Given the description of an element on the screen output the (x, y) to click on. 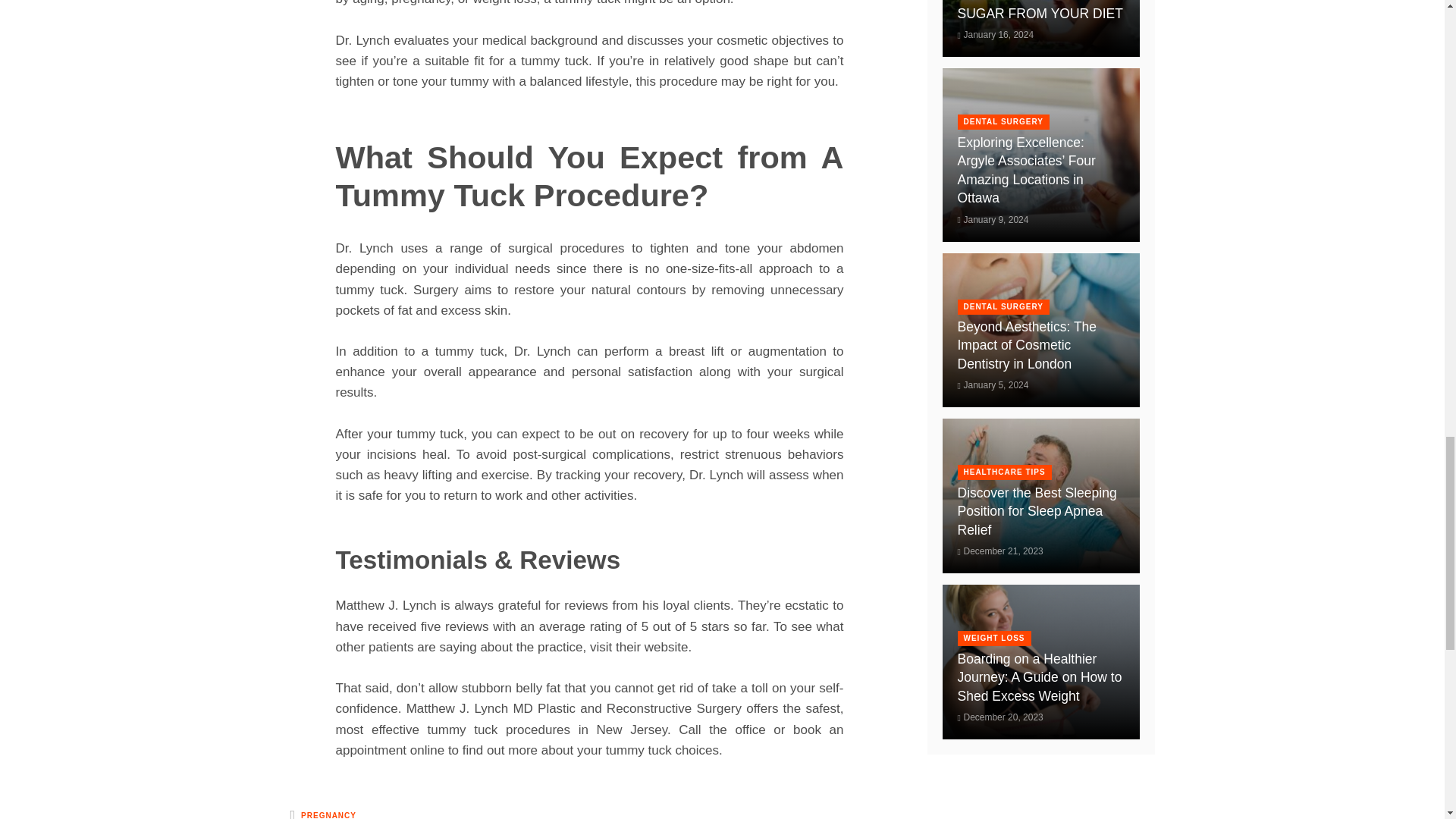
PREGNANCY (328, 814)
